Given the description of an element on the screen output the (x, y) to click on. 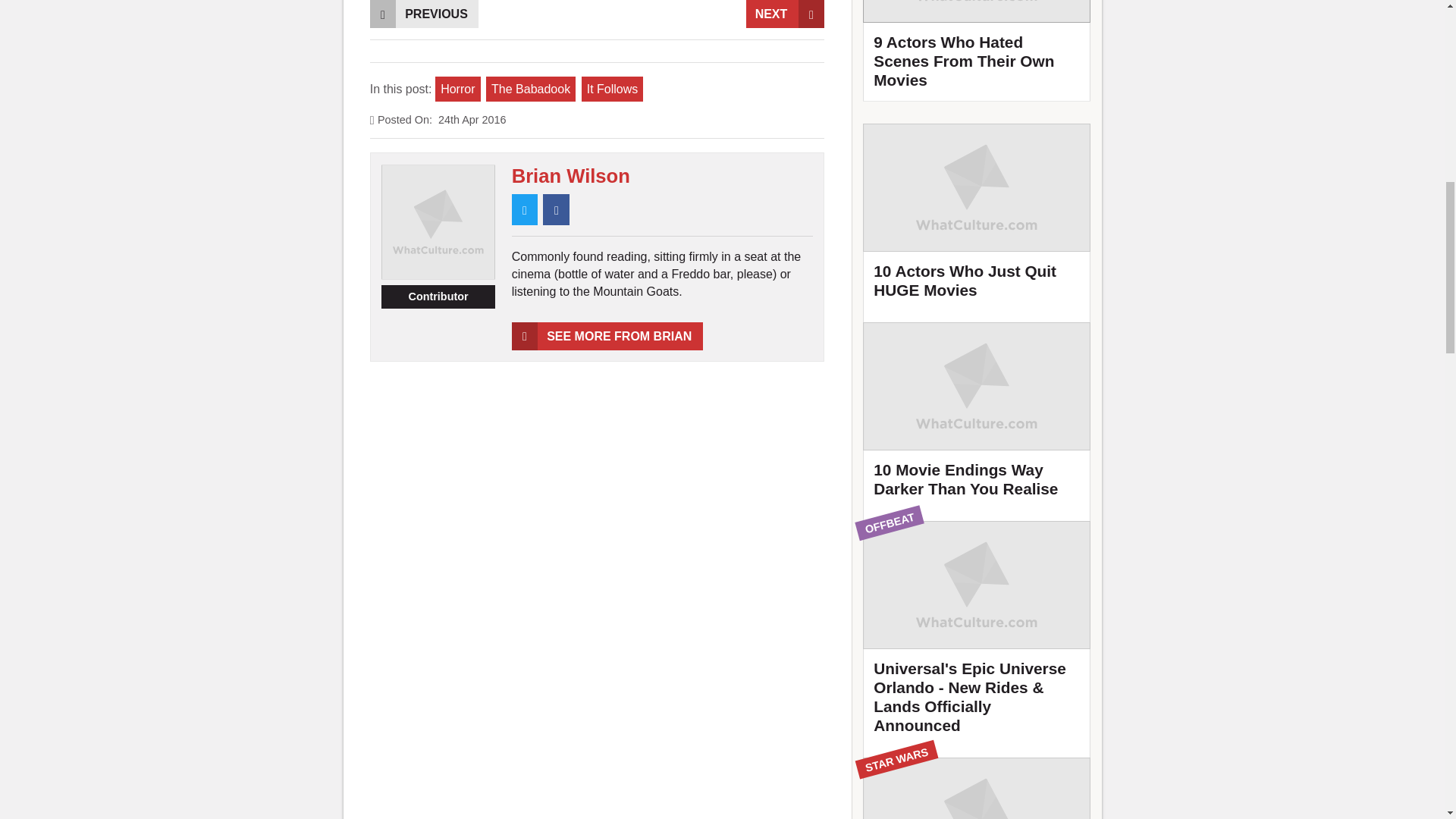
10 Movie Endings Way Darker Than You Realise (976, 416)
Featured Video (976, 50)
10 Actors Who Just Quit HUGE Movies (976, 217)
10 Huge Star Wars Moments That Happened In The Background (976, 788)
Contributor (438, 297)
